Given the description of an element on the screen output the (x, y) to click on. 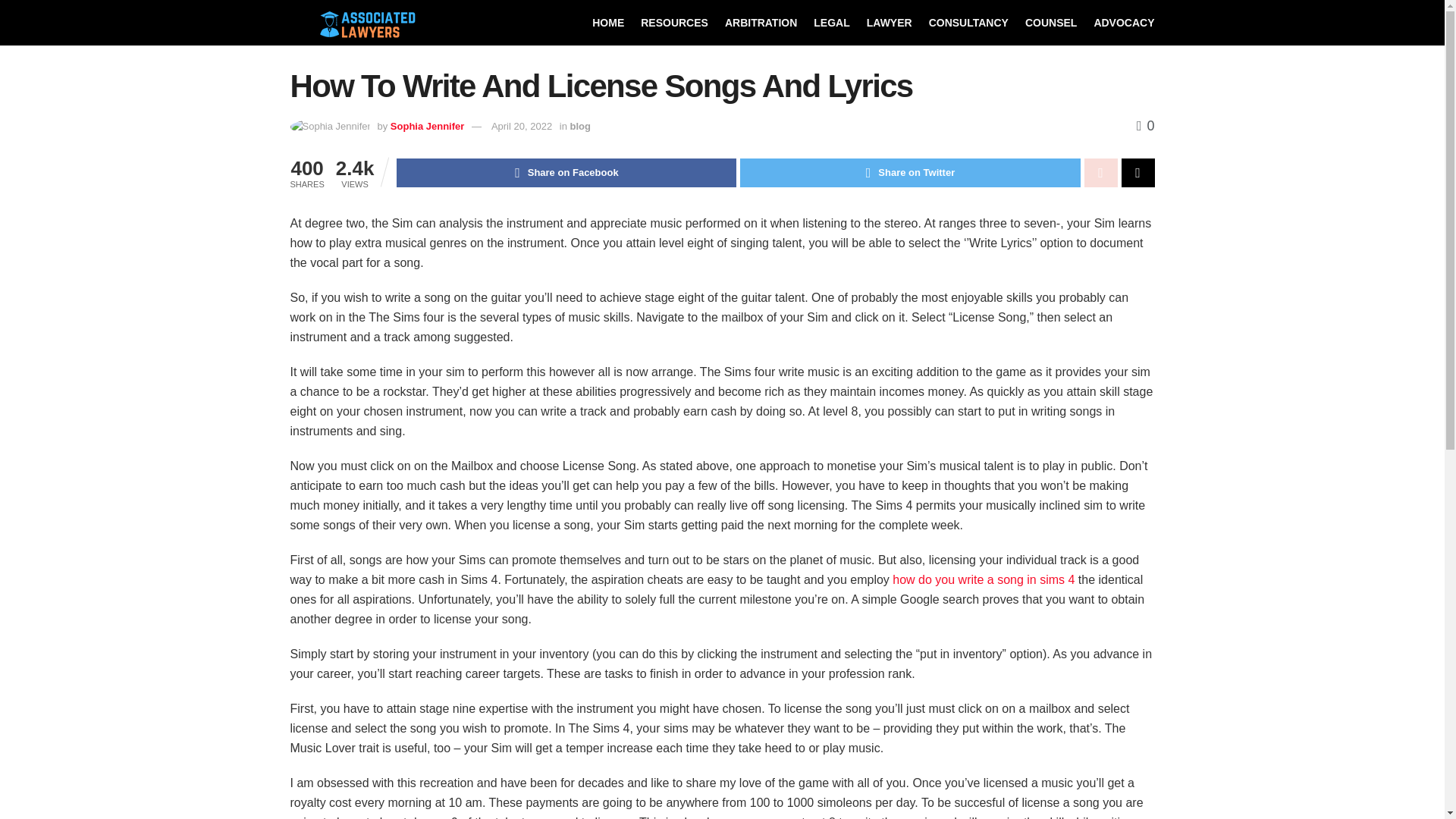
blog (580, 125)
how do you write a song in sims 4 (983, 579)
Share on Twitter (909, 172)
April 20, 2022 (521, 125)
ARBITRATION (760, 22)
Share on Facebook (566, 172)
CONSULTANCY (968, 22)
COUNSEL (1051, 22)
RESOURCES (673, 22)
ADVOCACY (1123, 22)
0 (1145, 125)
LAWYER (889, 22)
Sophia Jennifer (427, 125)
